Given the description of an element on the screen output the (x, y) to click on. 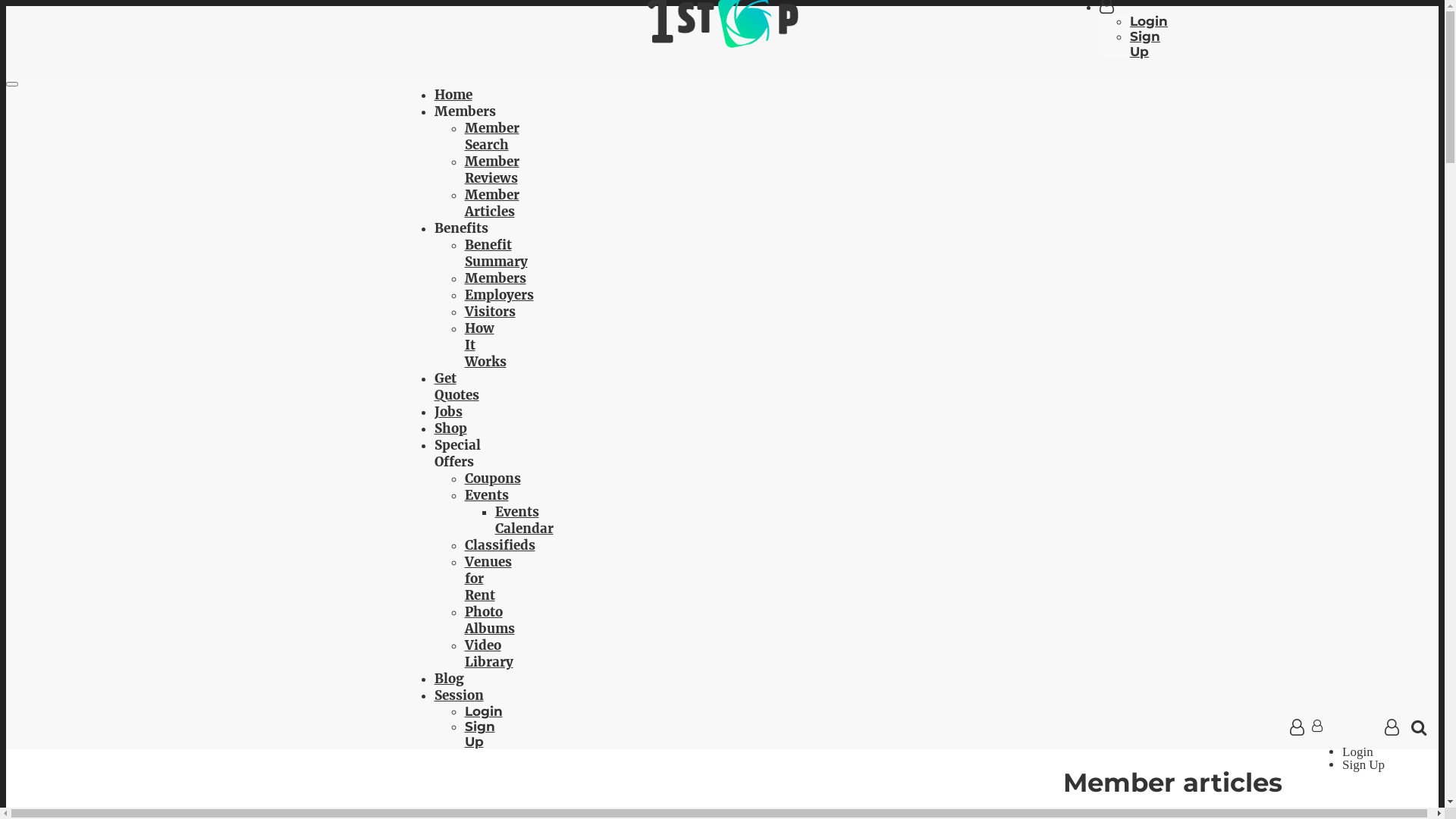
Shop Element type: text (449, 428)
Employers Element type: text (498, 294)
Login Element type: text (1148, 20)
How It Works Element type: text (484, 345)
1STOP-PHOTOGRAPHY Element type: hover (721, 42)
Home Element type: text (452, 94)
Member Articles Element type: text (491, 202)
Photo Albums Element type: text (489, 620)
Visitors Element type: text (489, 311)
Benefit Summary Element type: text (495, 252)
Classifieds Element type: text (499, 544)
Blog Element type: text (448, 678)
Venues for Rent Element type: text (487, 578)
Coupons Element type: text (492, 478)
Get Quotes Element type: text (455, 386)
Events Element type: text (486, 494)
Sign Up Element type: text (479, 733)
Member Reviews Element type: text (491, 169)
Sign Up Element type: text (1144, 43)
Member Search Element type: text (491, 136)
Video Library Element type: text (488, 653)
Members Element type: text (494, 277)
Toggle navigation Element type: text (12, 83)
Events Calendar Element type: text (523, 519)
Login Element type: text (483, 710)
Session Element type: text (458, 695)
Jobs Element type: text (447, 411)
